Given the description of an element on the screen output the (x, y) to click on. 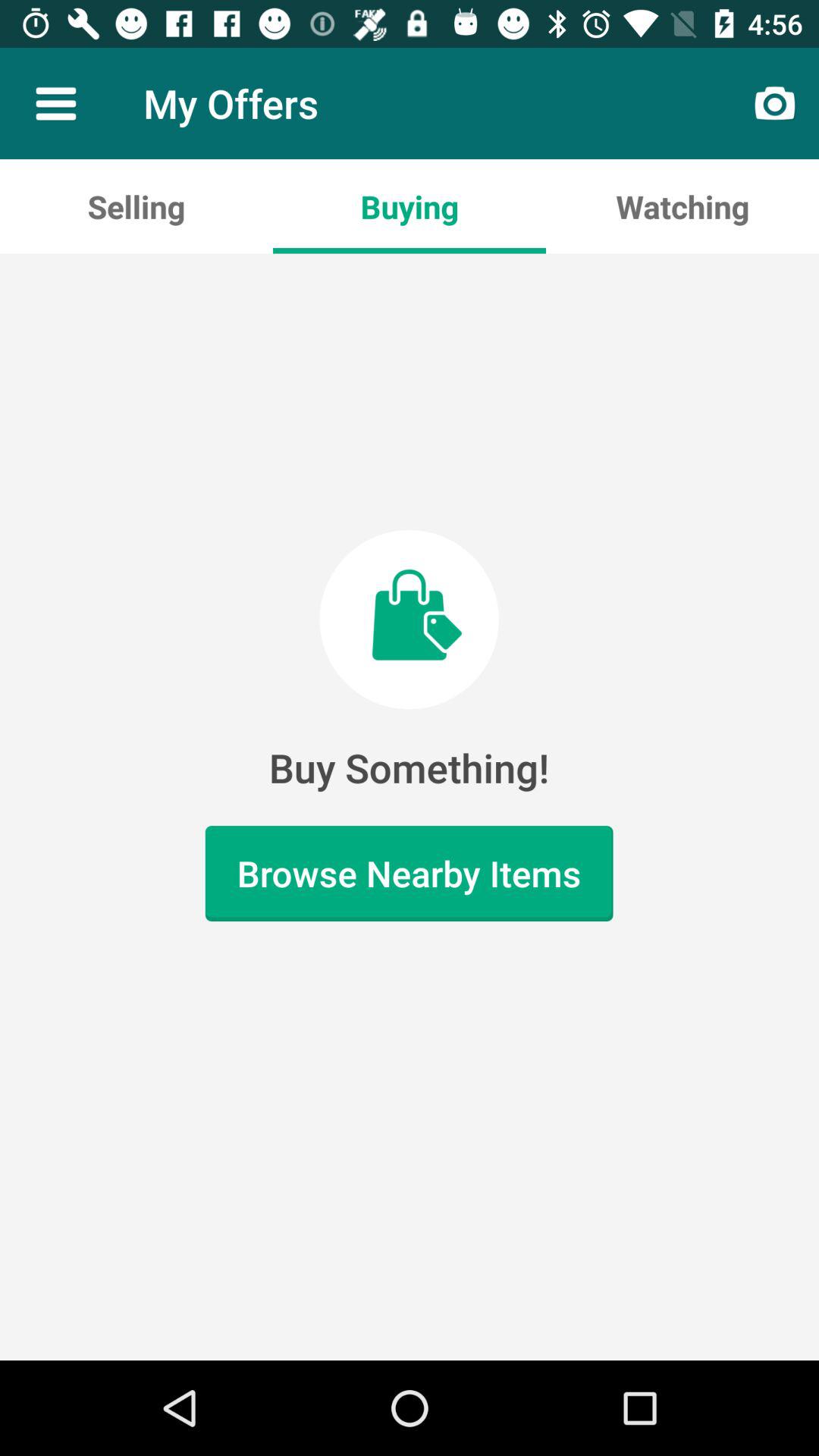
select item next to the watching item (409, 206)
